Given the description of an element on the screen output the (x, y) to click on. 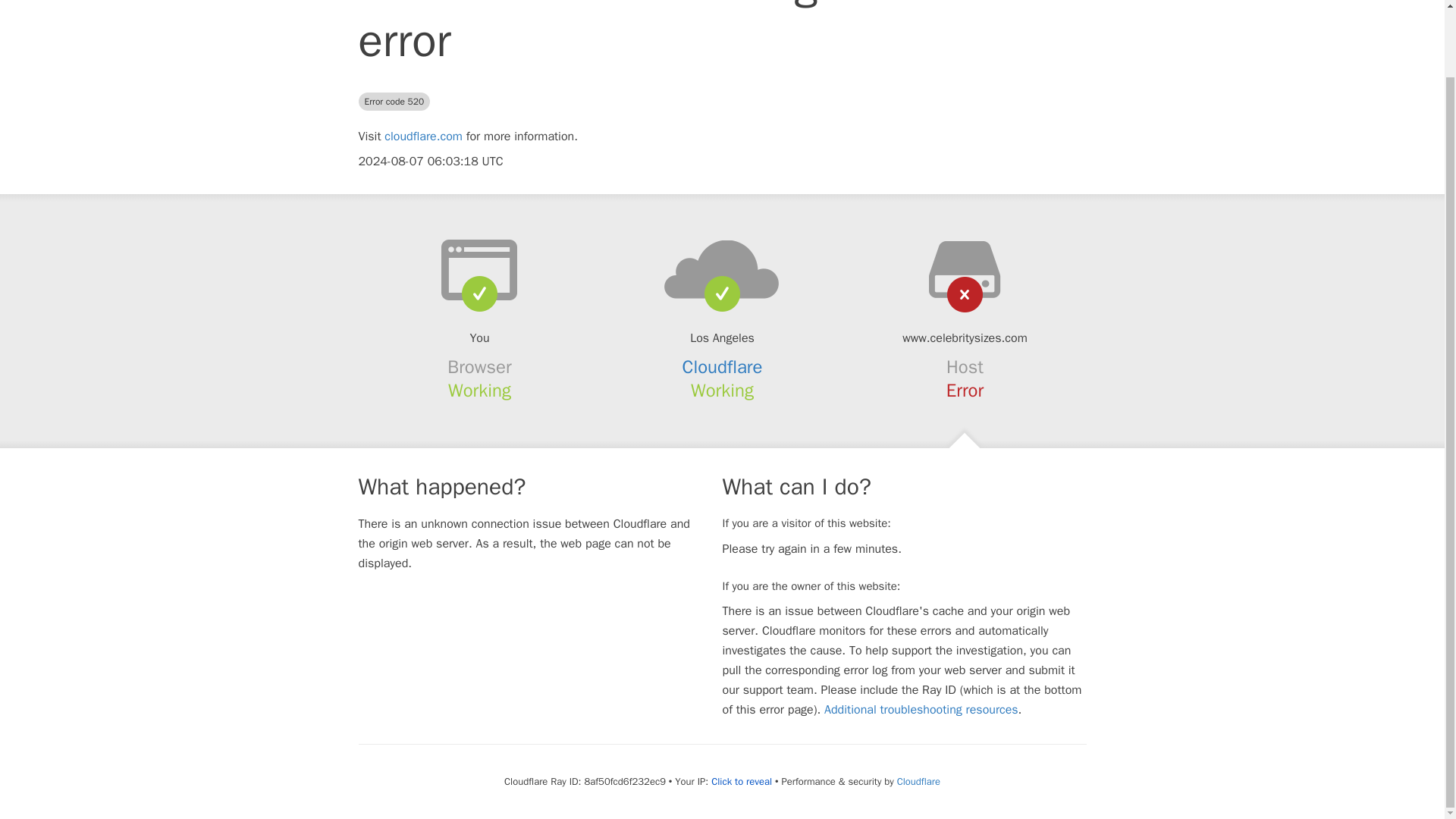
Cloudflare (722, 366)
Cloudflare (918, 780)
cloudflare.com (423, 136)
Click to reveal (741, 781)
Additional troubleshooting resources (920, 709)
